Given the description of an element on the screen output the (x, y) to click on. 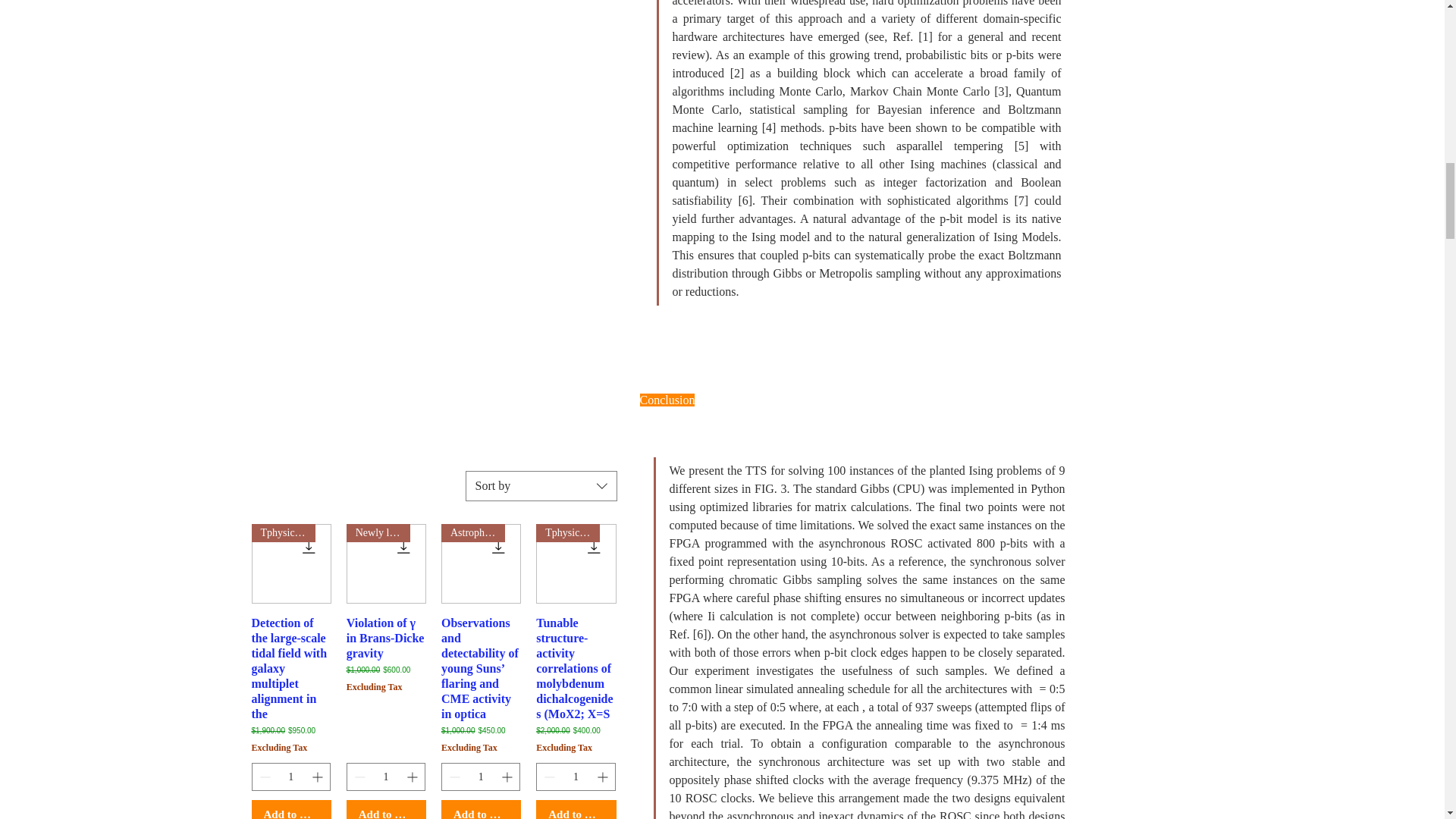
Astrophysics (481, 563)
Add to Cart (291, 809)
Add to Cart (481, 809)
Newly listed Tphysletters (386, 563)
1 (290, 776)
TphysicsLetters (575, 563)
Sort by (541, 485)
TphysicsLetters (291, 563)
1 (386, 776)
1 (575, 776)
